Given the description of an element on the screen output the (x, y) to click on. 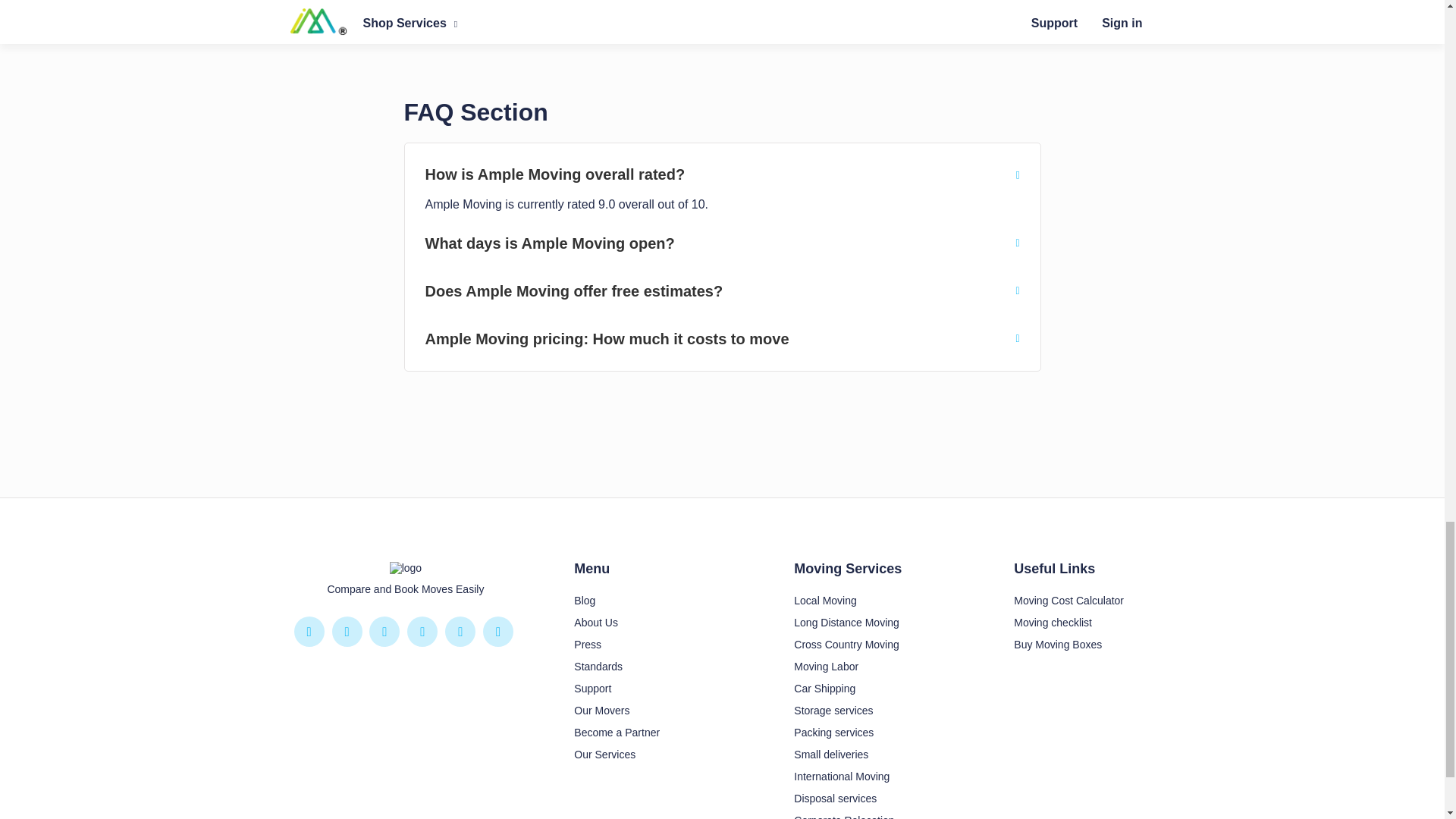
How is Ample Moving overall rated? (722, 174)
Press (587, 644)
Our Movers (600, 710)
Become a Partner (616, 732)
What days is Ample Moving open? (722, 243)
Ample Moving pricing: How much it costs to move (722, 338)
Standards (598, 666)
logo (406, 567)
Support (592, 688)
About Us (595, 622)
